Given the description of an element on the screen output the (x, y) to click on. 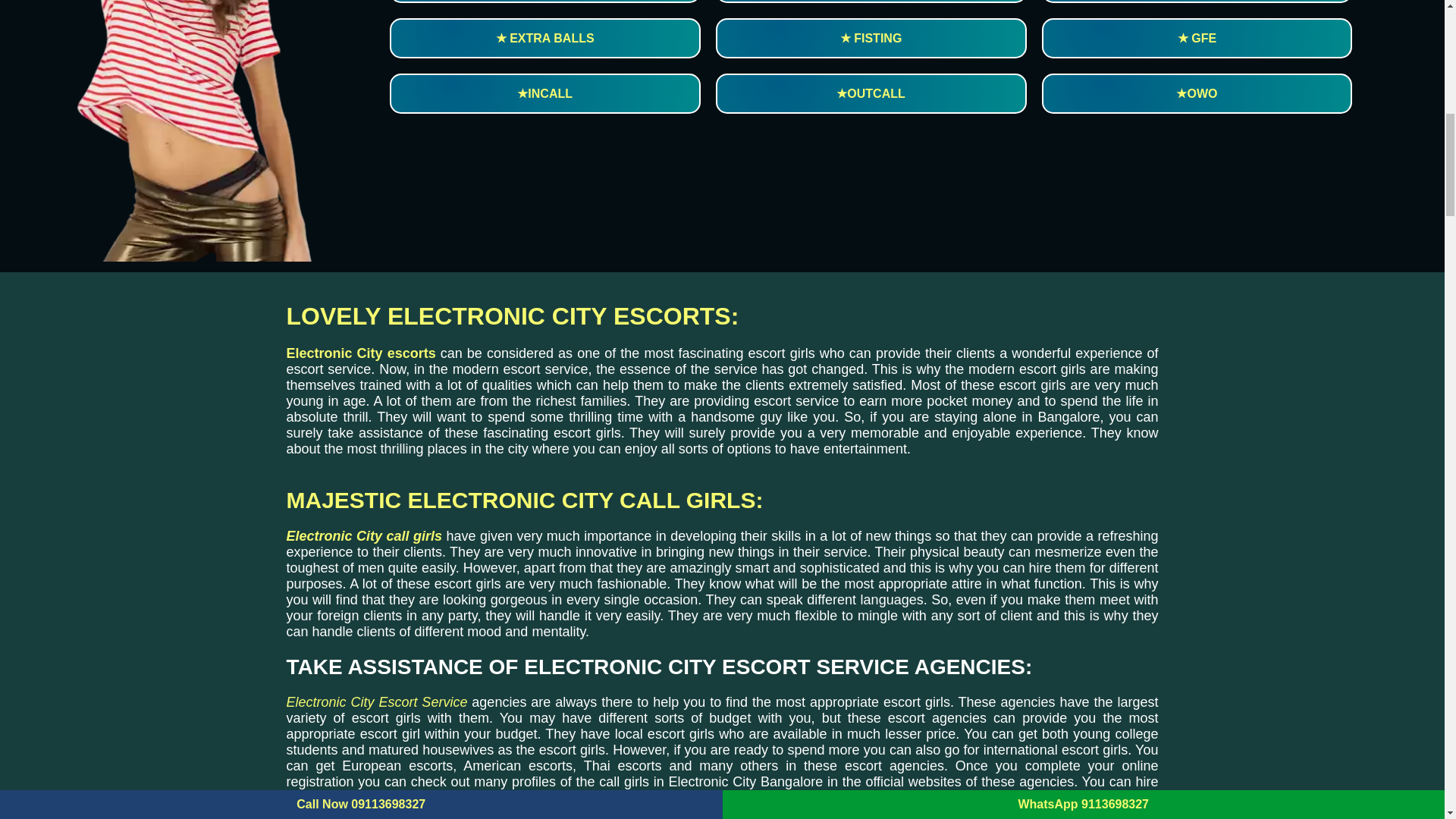
Electronic City Escorts Phone WhatsApp (188, 130)
Electronic City call girls (364, 535)
Electronic City Escort Service (376, 702)
Electronic City escorts (360, 353)
